Given the description of an element on the screen output the (x, y) to click on. 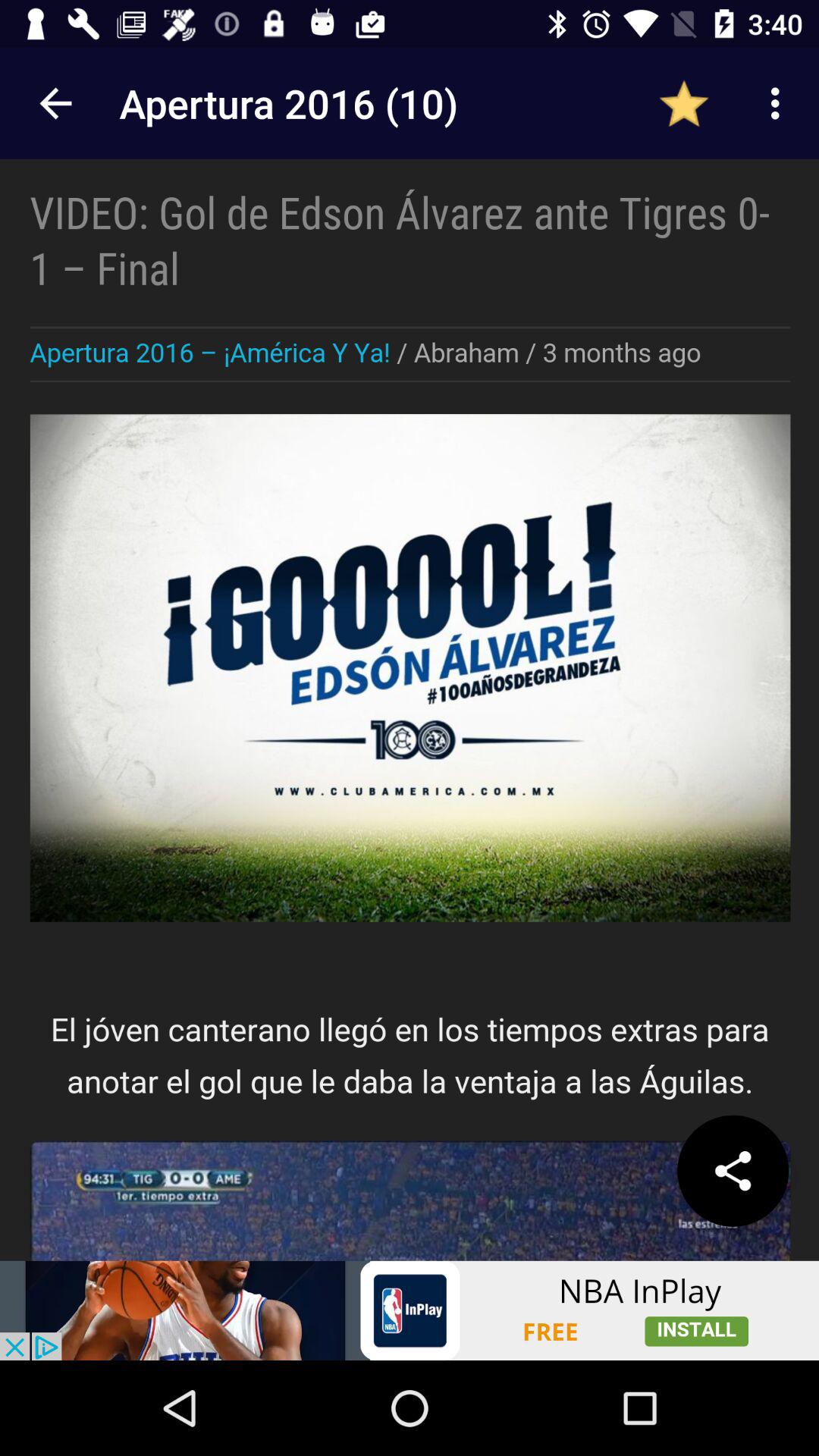
advertisement page (409, 653)
